Given the description of an element on the screen output the (x, y) to click on. 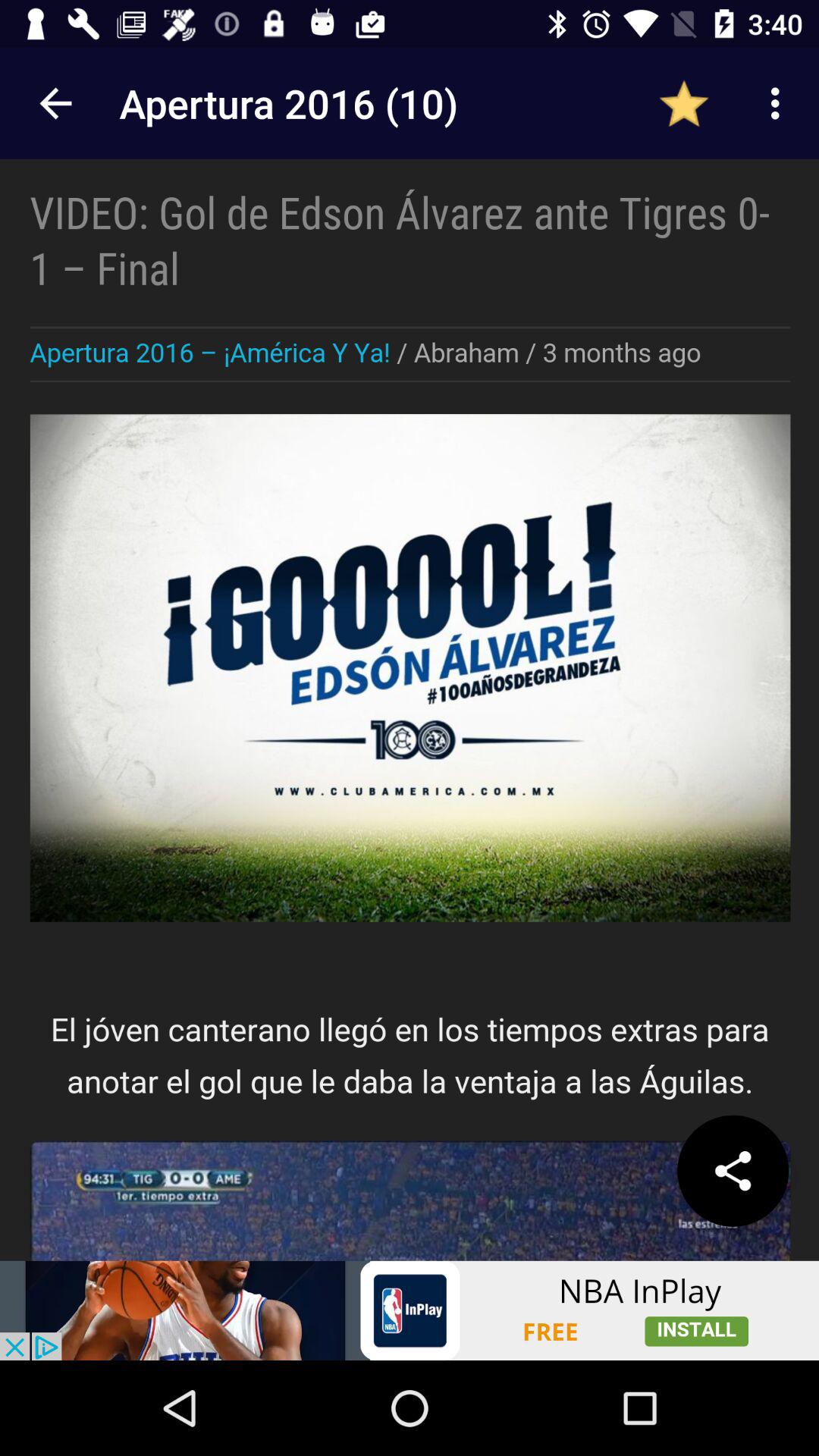
advertisement page (409, 653)
